Given the description of an element on the screen output the (x, y) to click on. 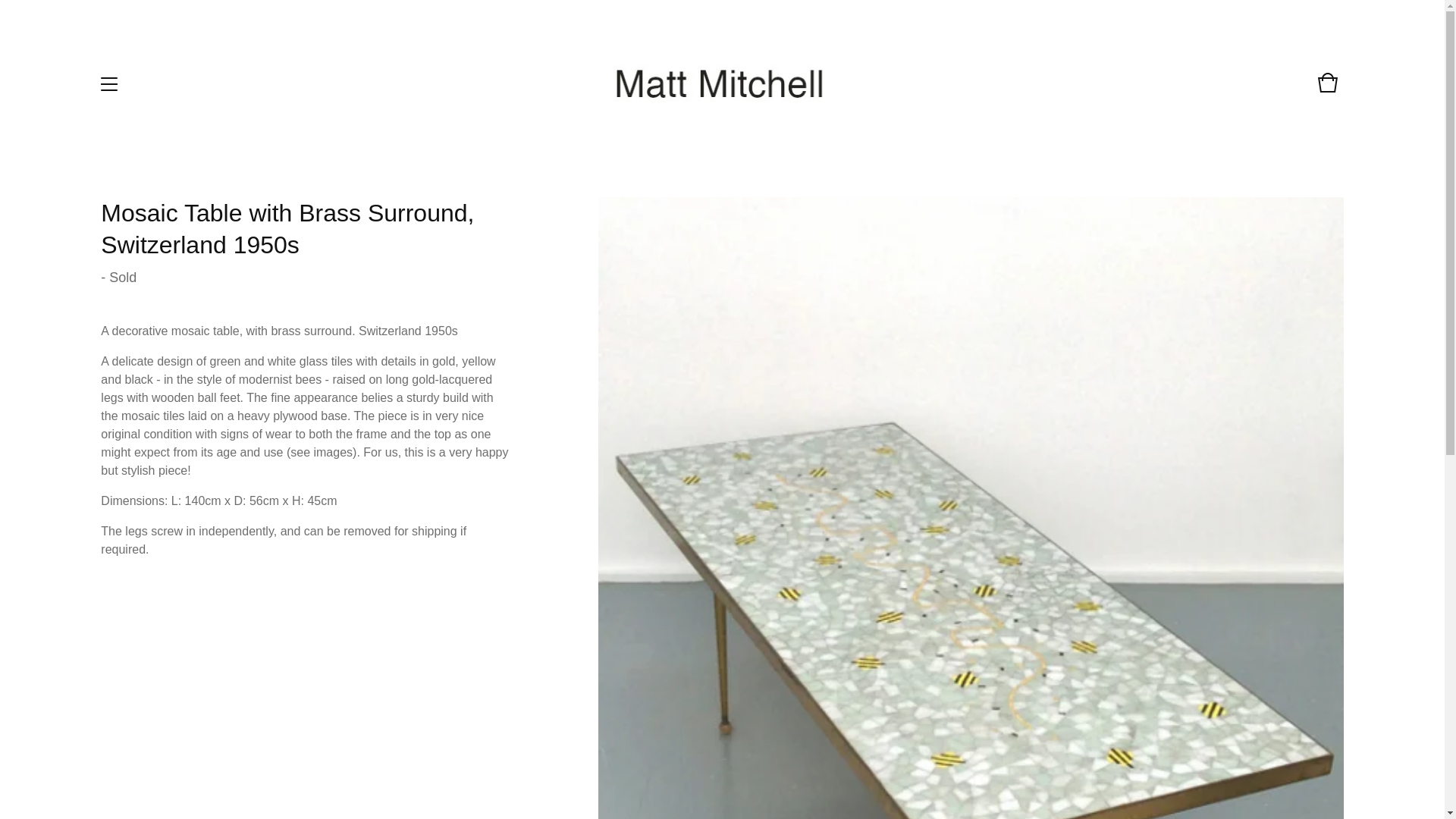
Matt Mitchell (719, 83)
Cart (1327, 89)
